Given the description of an element on the screen output the (x, y) to click on. 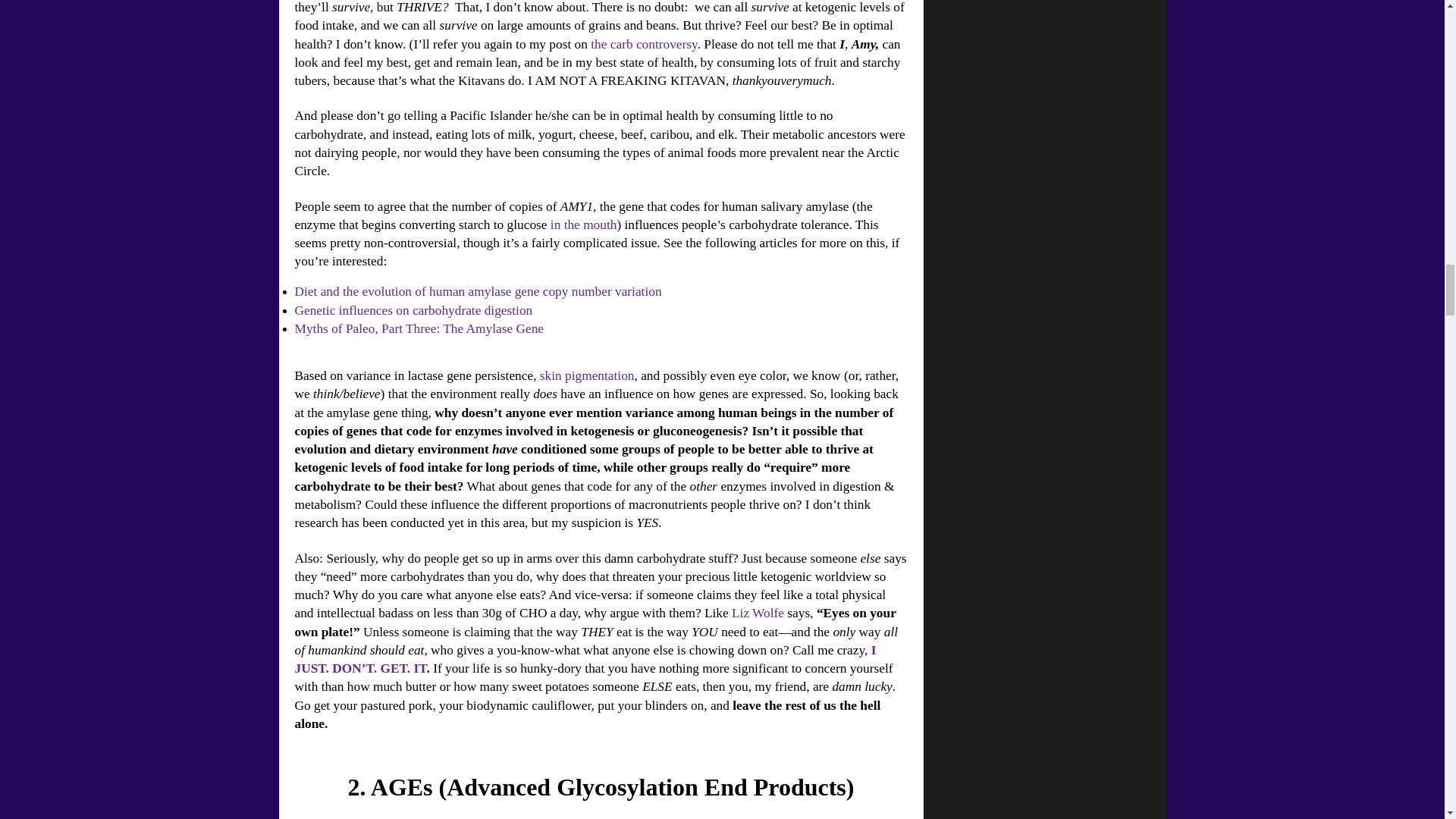
the carb controversy (644, 43)
in the mouth (583, 224)
Myths of Paleo, Part Three: The Amylase Gene (418, 328)
skin pigmentation (587, 375)
Genetic influences on carbohydrate digestion (413, 310)
Liz Wolfe (758, 612)
